Given the description of an element on the screen output the (x, y) to click on. 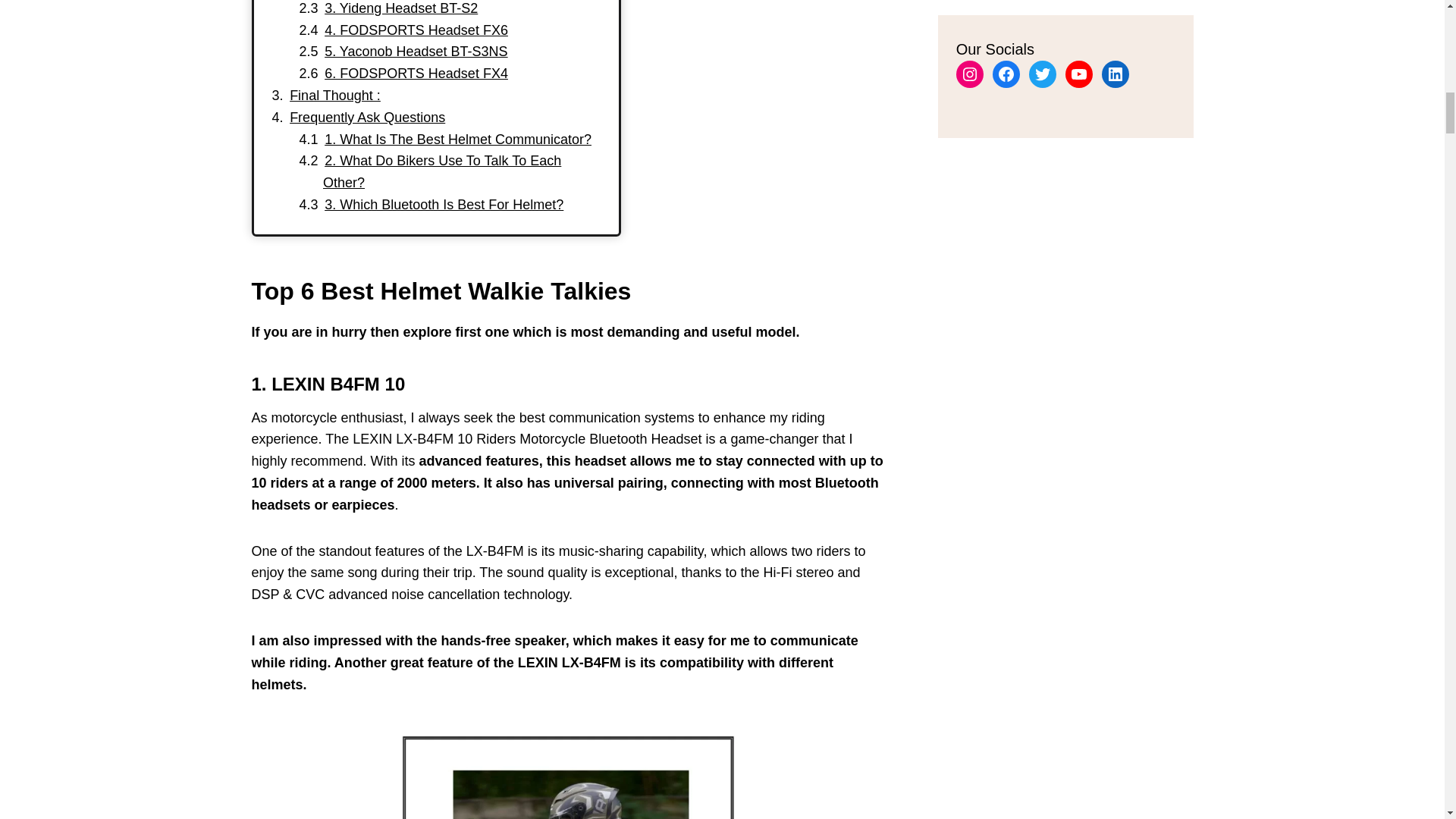
Frequently Ask Questions (367, 117)
LEXIN B4FM 10 (571, 769)
1. What Is The Best Helmet Communicator? (457, 139)
5. Yaconob Headset BT-S3NS (415, 51)
4. FODSPORTS Headset FX6 (416, 29)
LEXIN B4FM 10 (337, 383)
2. What Do Bikers Use To Talk To Each Other? (441, 171)
3. Which Bluetooth Is Best For Helmet? (443, 204)
3. Yideng Headset BT-S2 (400, 7)
6. FODSPORTS Headset FX4 (416, 73)
